Given the description of an element on the screen output the (x, y) to click on. 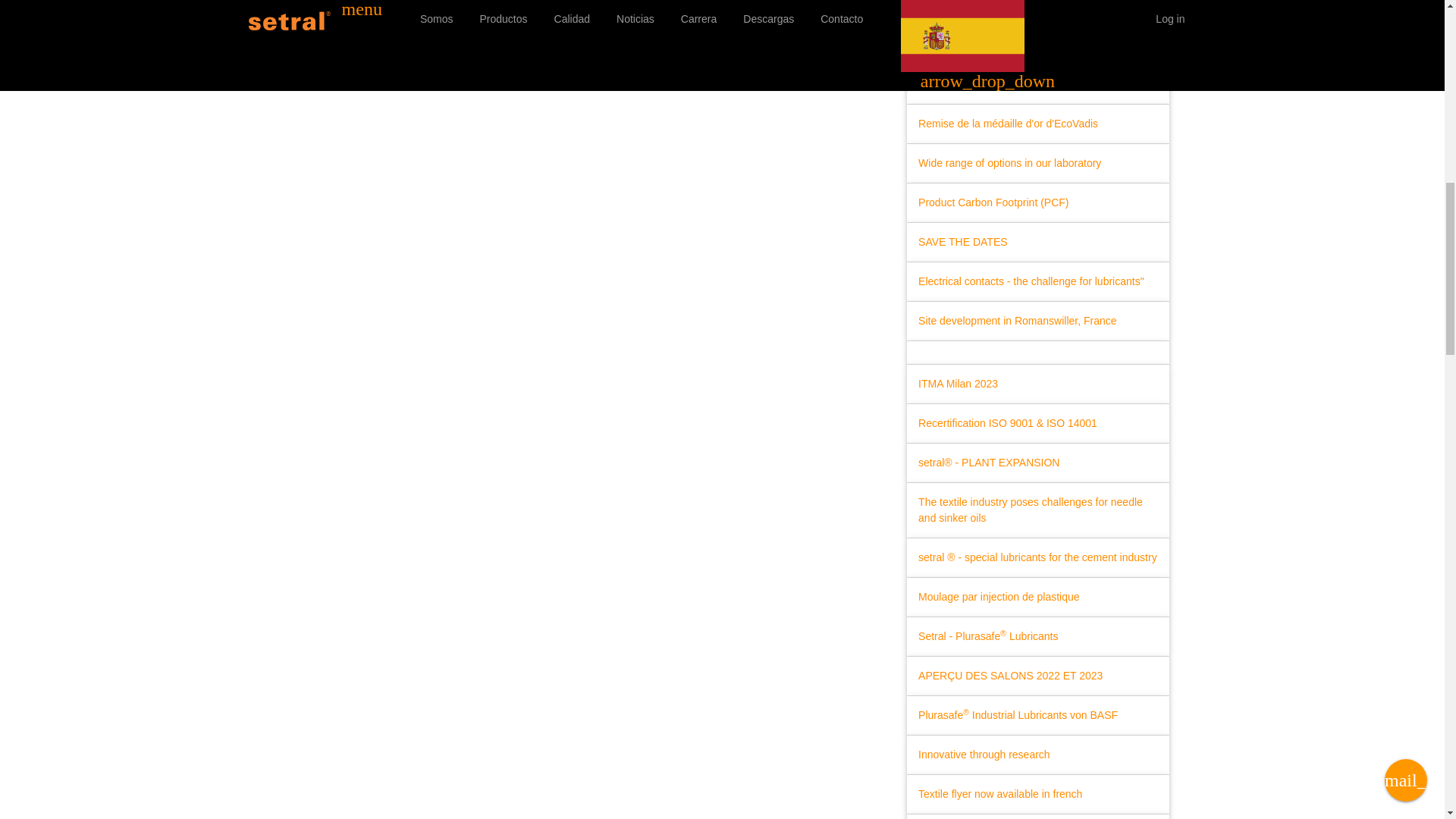
Wide range of options in our laboratory (1009, 163)
